Given the description of an element on the screen output the (x, y) to click on. 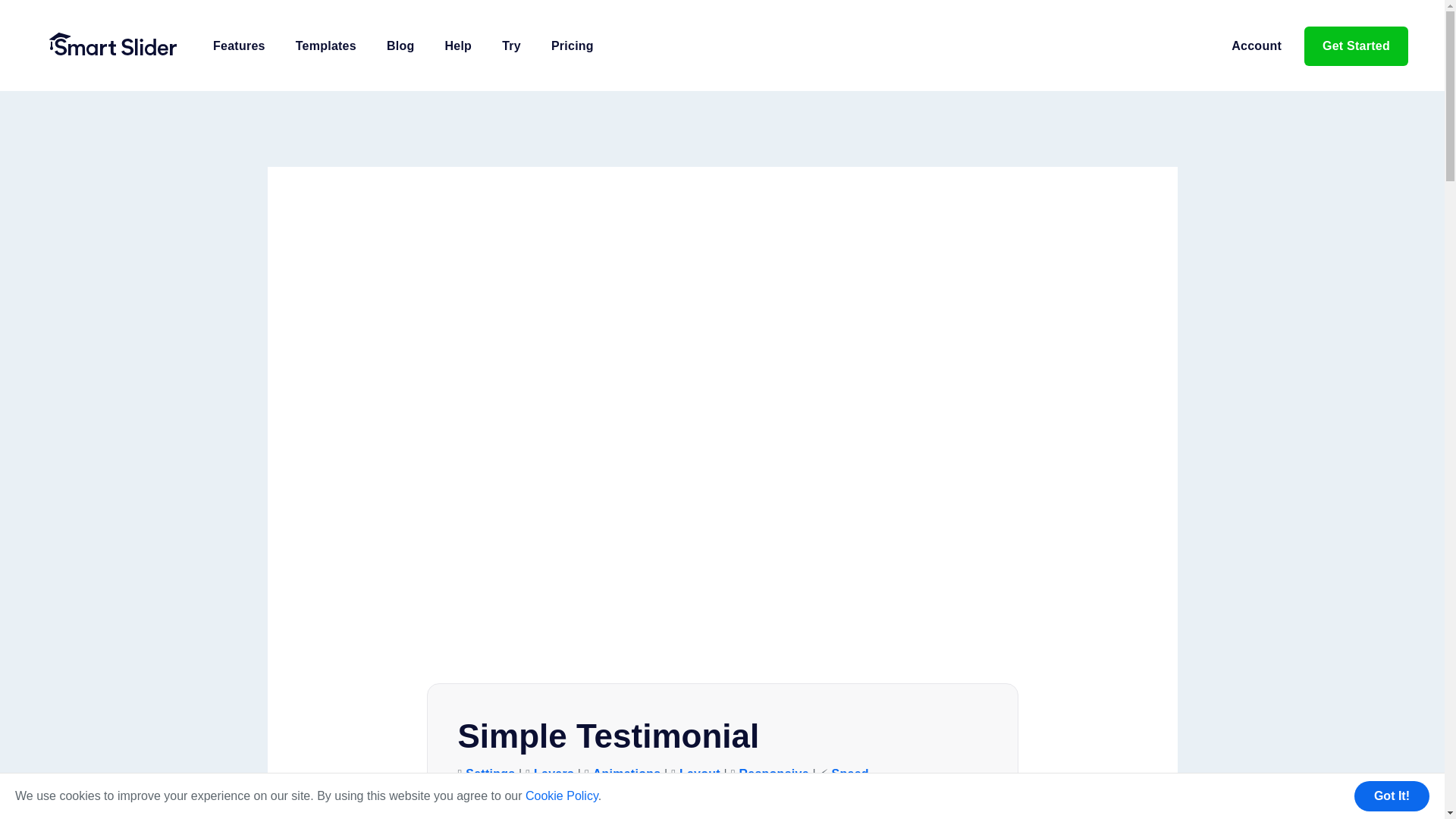
Pricing (572, 46)
Help (457, 46)
Got It! (1391, 796)
Settings (490, 773)
Try (511, 46)
Account (1256, 46)
Responsive (773, 773)
Cookie Policy (561, 795)
Get Started (1355, 46)
Blog (400, 46)
